Given the description of an element on the screen output the (x, y) to click on. 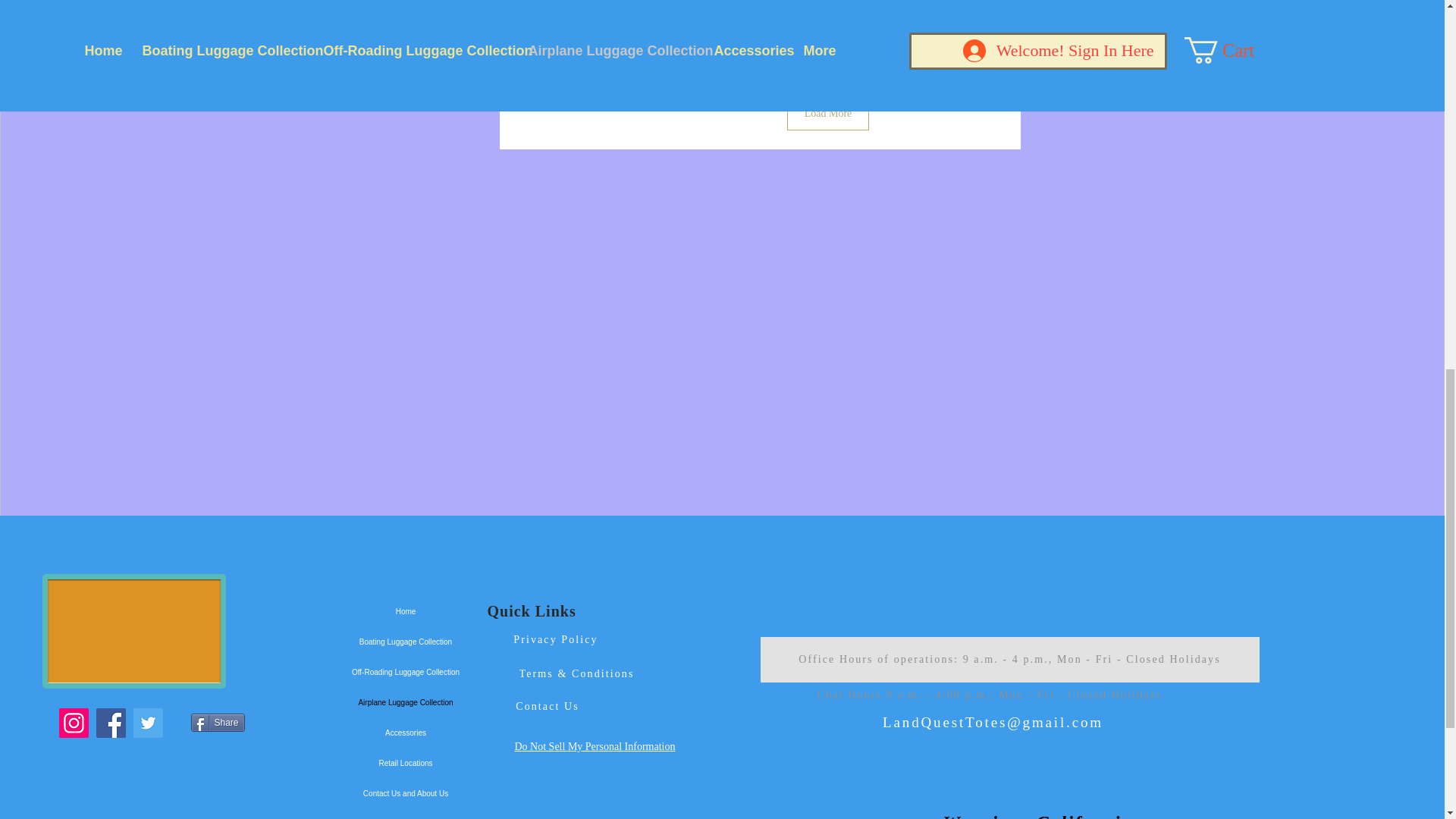
Privacy Policy (557, 639)
Retail Locations (405, 763)
Contact Us (546, 706)
1 (828, 6)
Off-Roading Luggage Collection (405, 672)
Add to Cart (828, 43)
Contact Us and About Us (405, 793)
Airplane Luggage Collection (405, 702)
Do Not Sell My Personal Information (594, 746)
Share (217, 722)
